Given the description of an element on the screen output the (x, y) to click on. 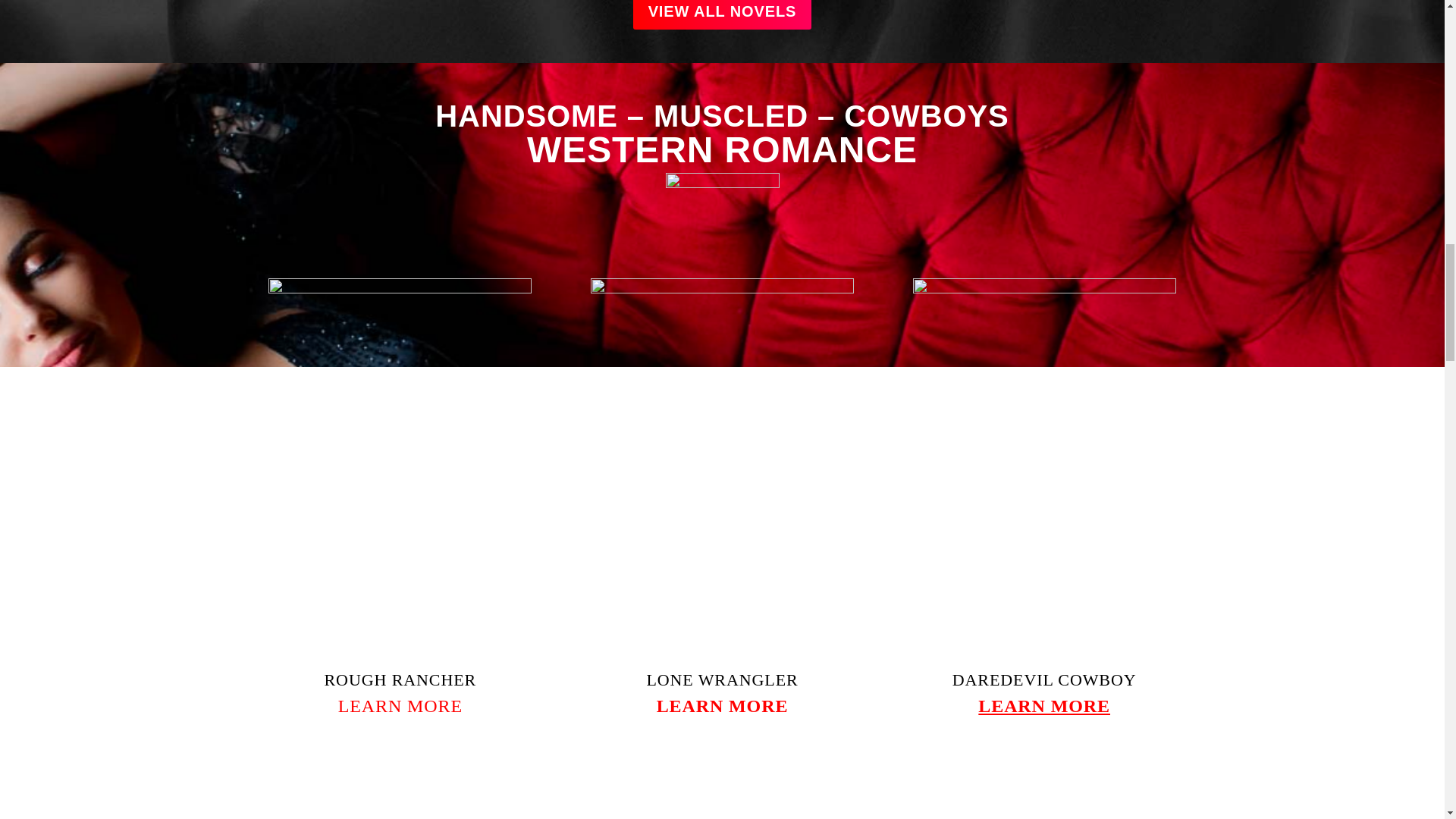
LEARN MORE (1044, 705)
VIEW ALL NOVELS (722, 14)
